Given the description of an element on the screen output the (x, y) to click on. 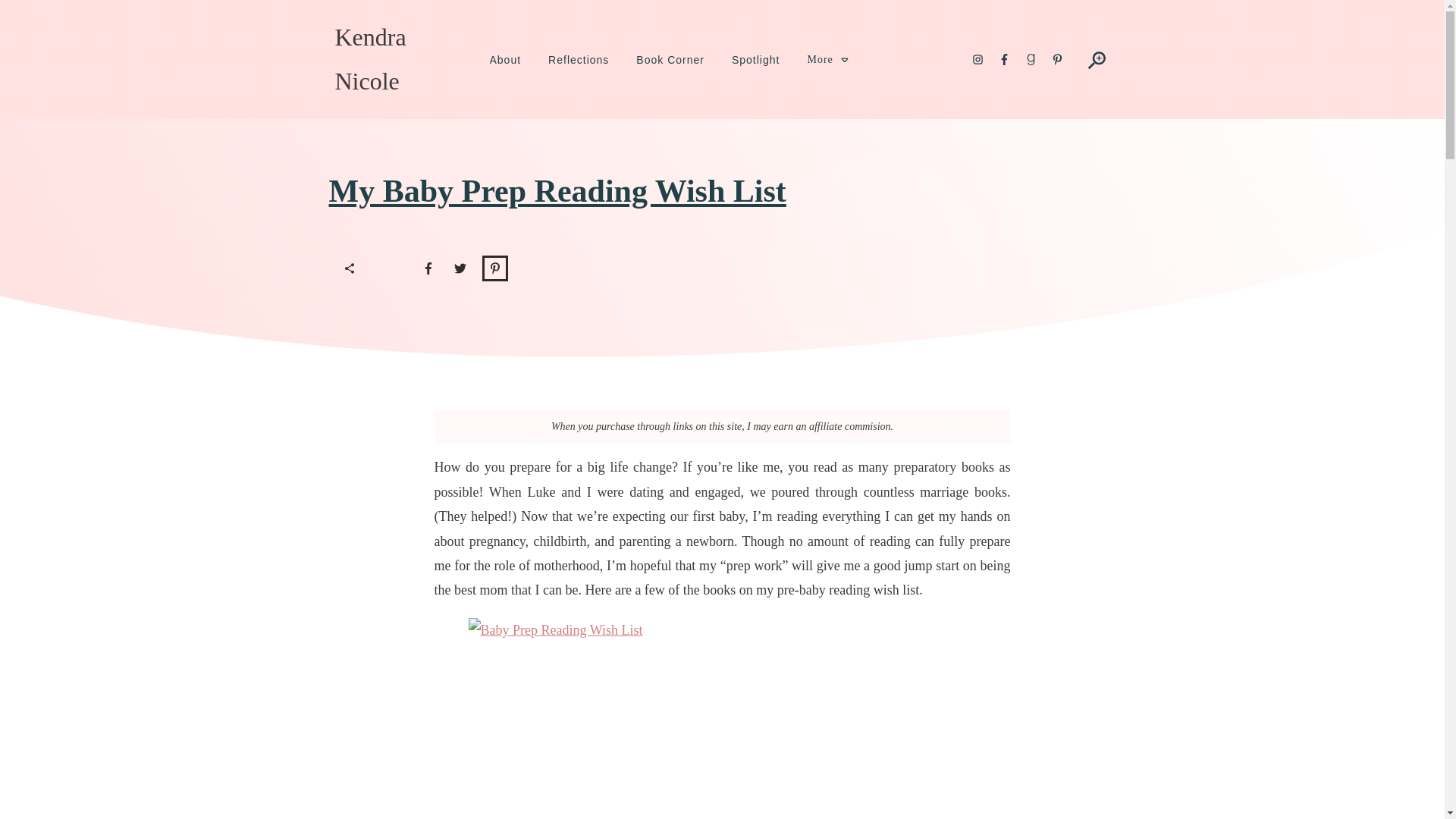
Kendra Nicole (370, 59)
Spotlight (755, 59)
Reflections (578, 59)
My Baby Prep Reading Wish List (557, 190)
About (505, 59)
My Baby Prep Reading Wish List (557, 190)
Book Corner (670, 59)
More (827, 59)
